Given the description of an element on the screen output the (x, y) to click on. 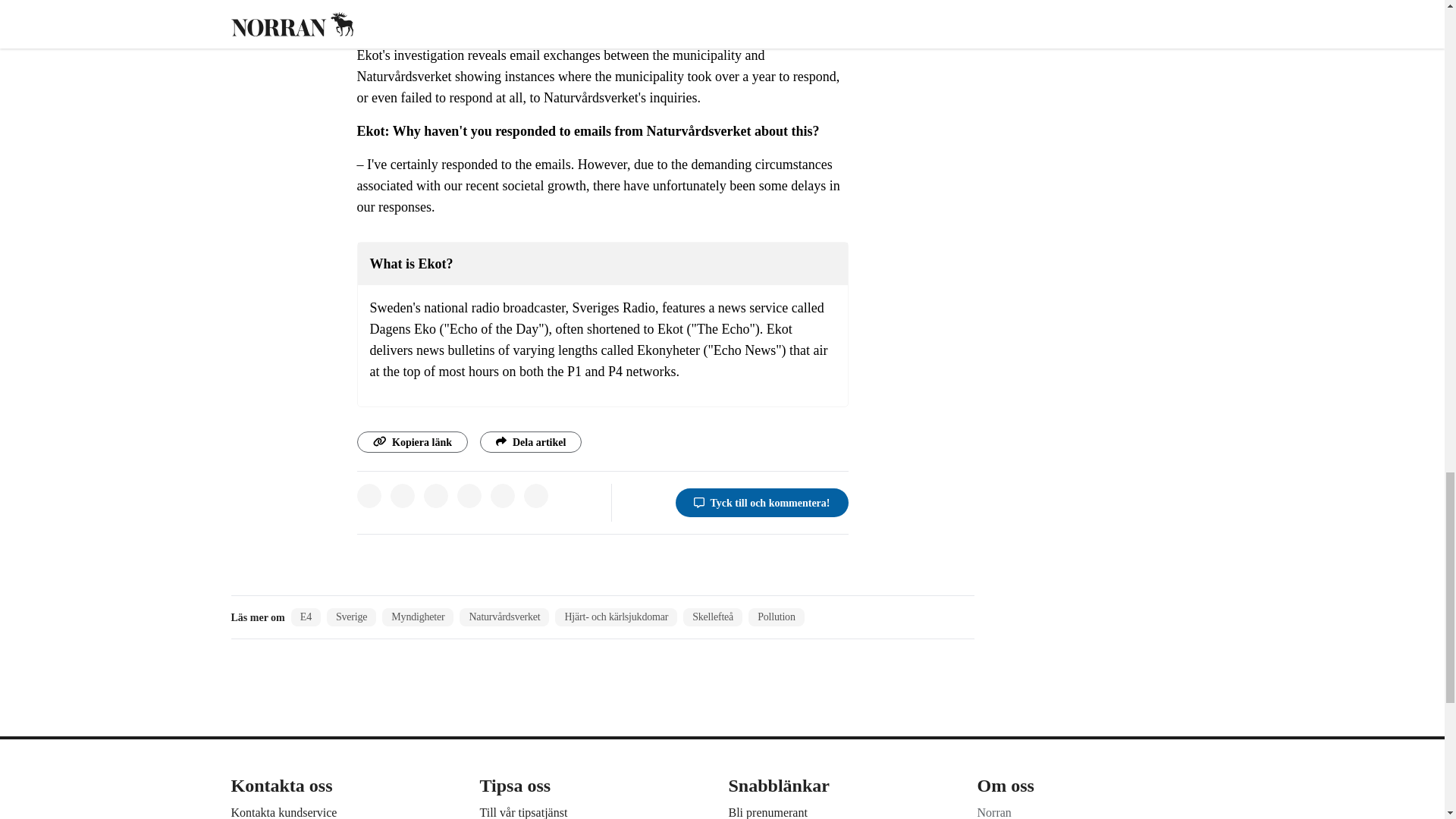
Visa fler artiklar om Myndigheter (416, 617)
Tyck till och kommentera! (761, 502)
Sverige (350, 617)
Visa fler artiklar om Pollution (776, 617)
Visa fler artiklar om E4 (305, 617)
Visa fler artiklar om Sverige (350, 617)
Dela artikel (530, 441)
Pollution (776, 617)
Bli prenumerant (767, 812)
Bli prenumerant (767, 812)
